Given the description of an element on the screen output the (x, y) to click on. 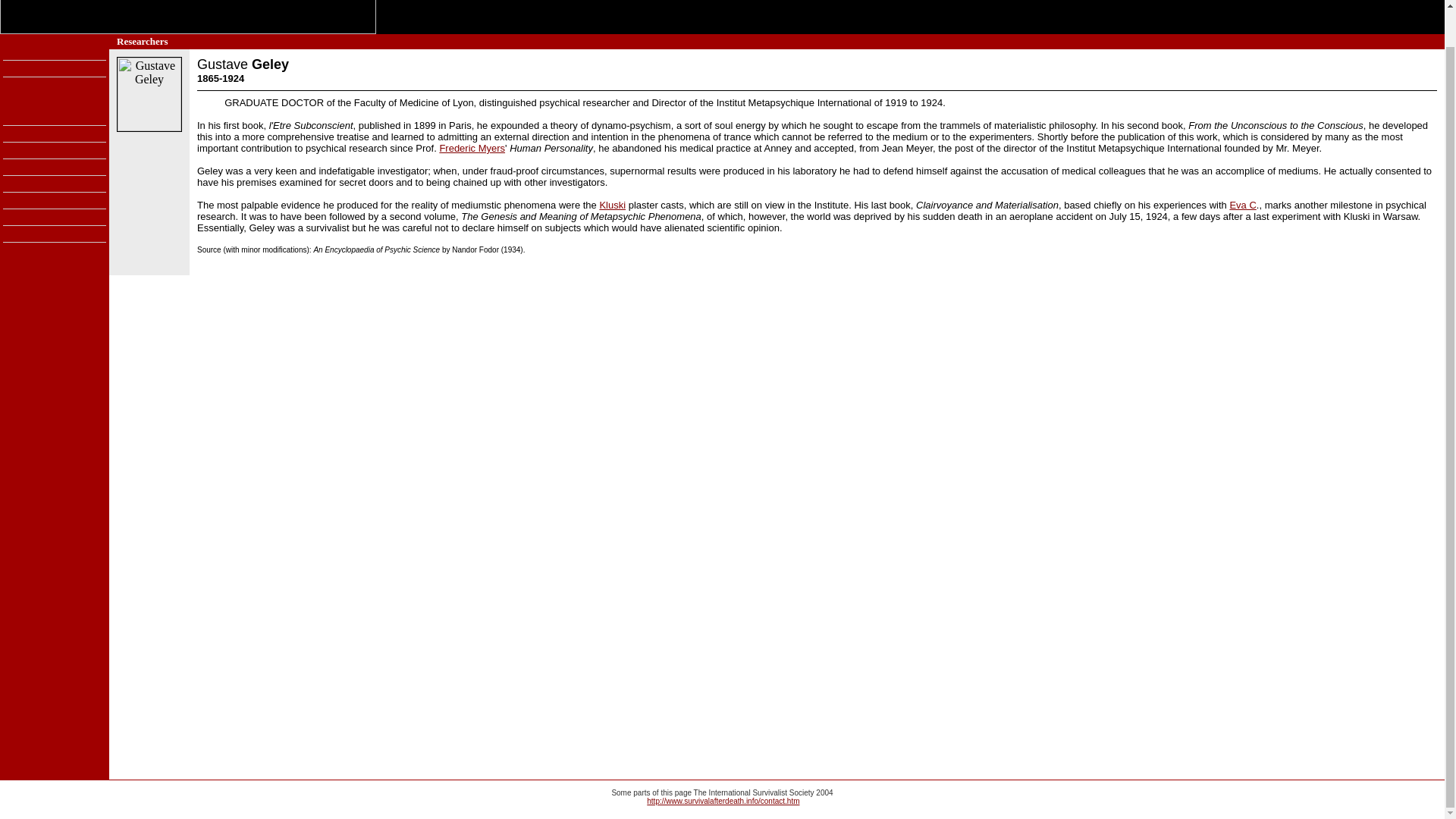
Frederic Myers (472, 147)
Eva C (1241, 204)
Kluski (612, 204)
